Given the description of an element on the screen output the (x, y) to click on. 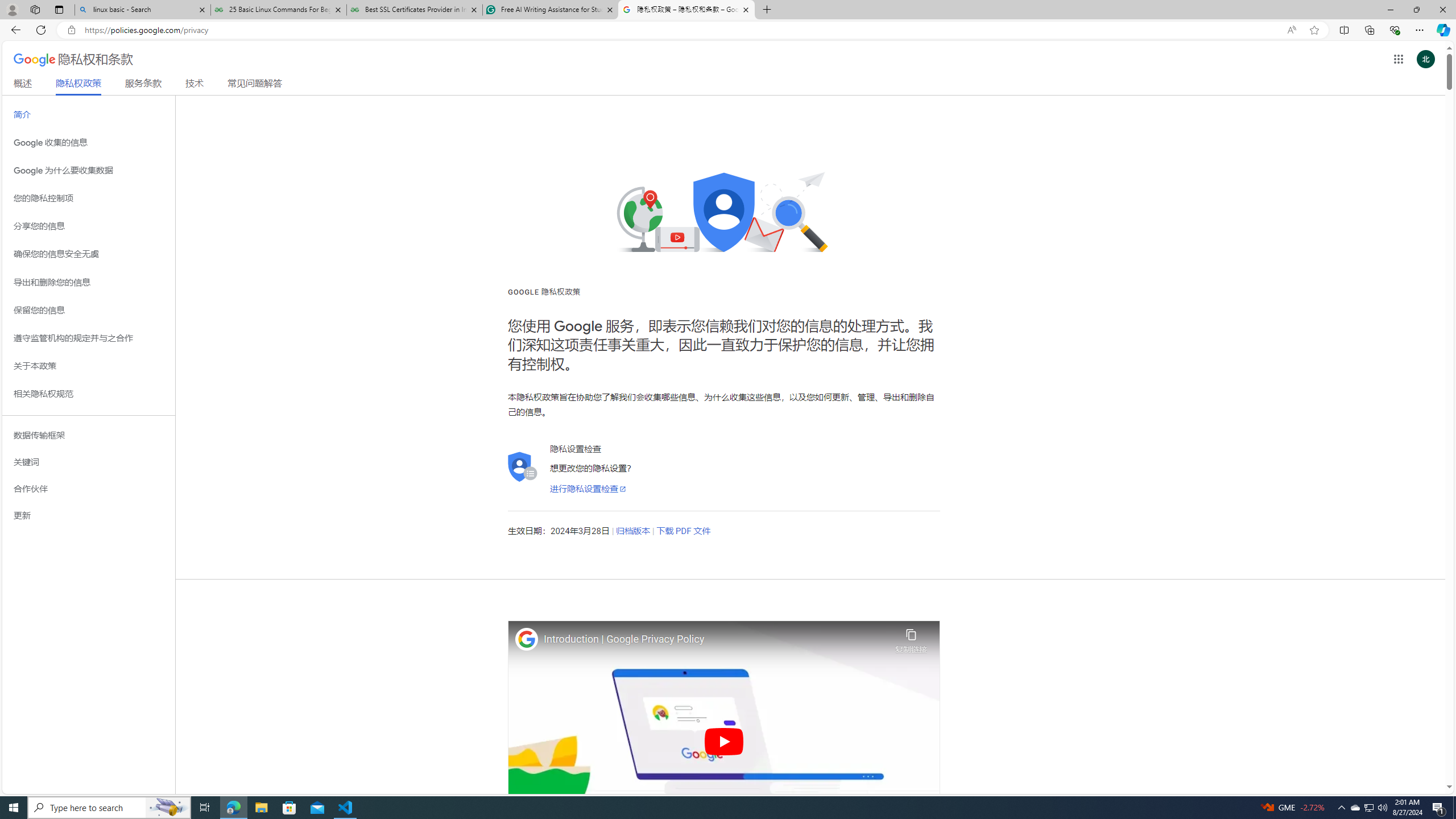
25 Basic Linux Commands For Beginners - GeeksforGeeks (277, 9)
Free AI Writing Assistance for Students | Grammarly (550, 9)
